Given the description of an element on the screen output the (x, y) to click on. 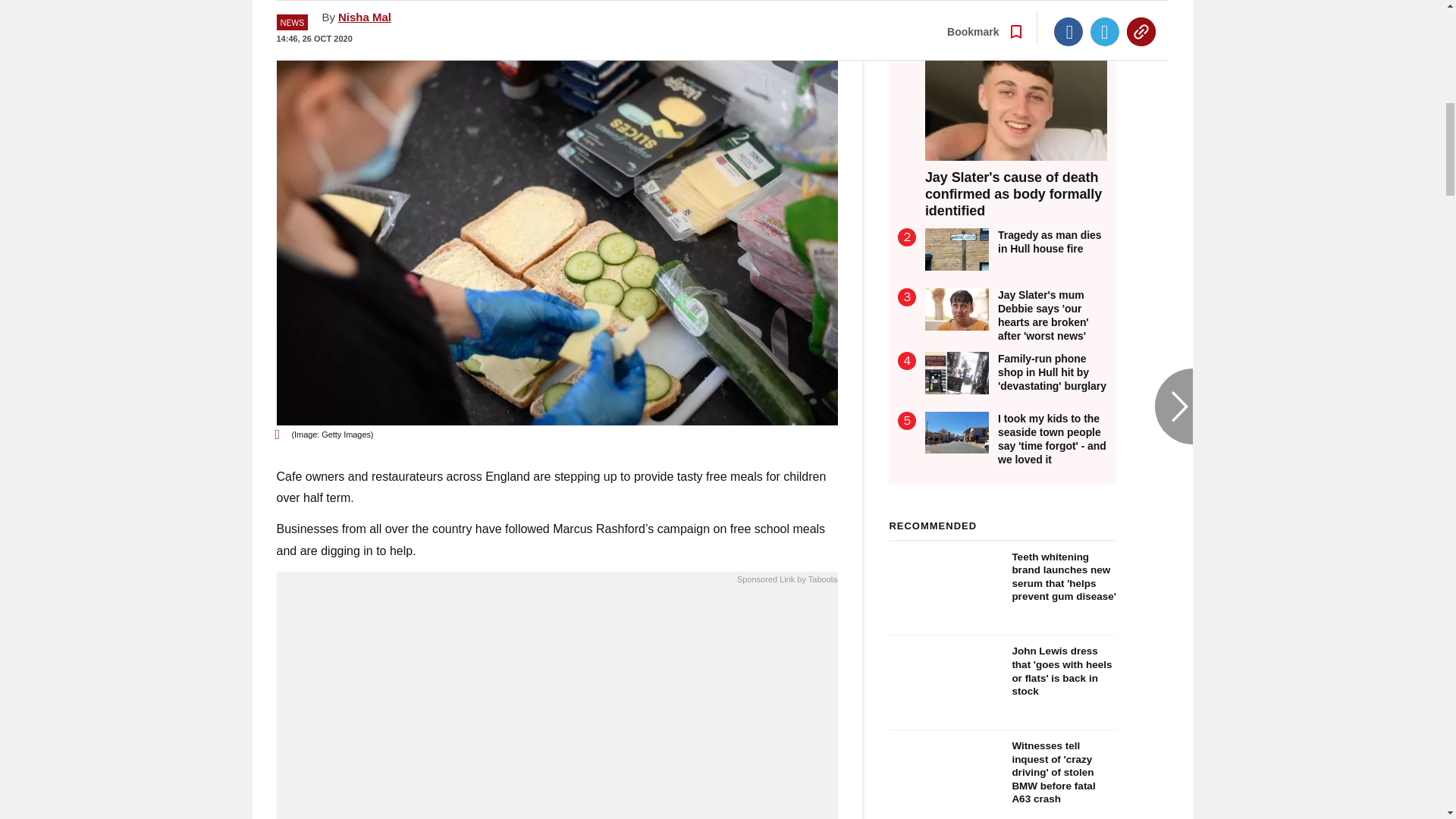
Go (730, 17)
If you own a mouse, you have to play this game. (557, 706)
